Given the description of an element on the screen output the (x, y) to click on. 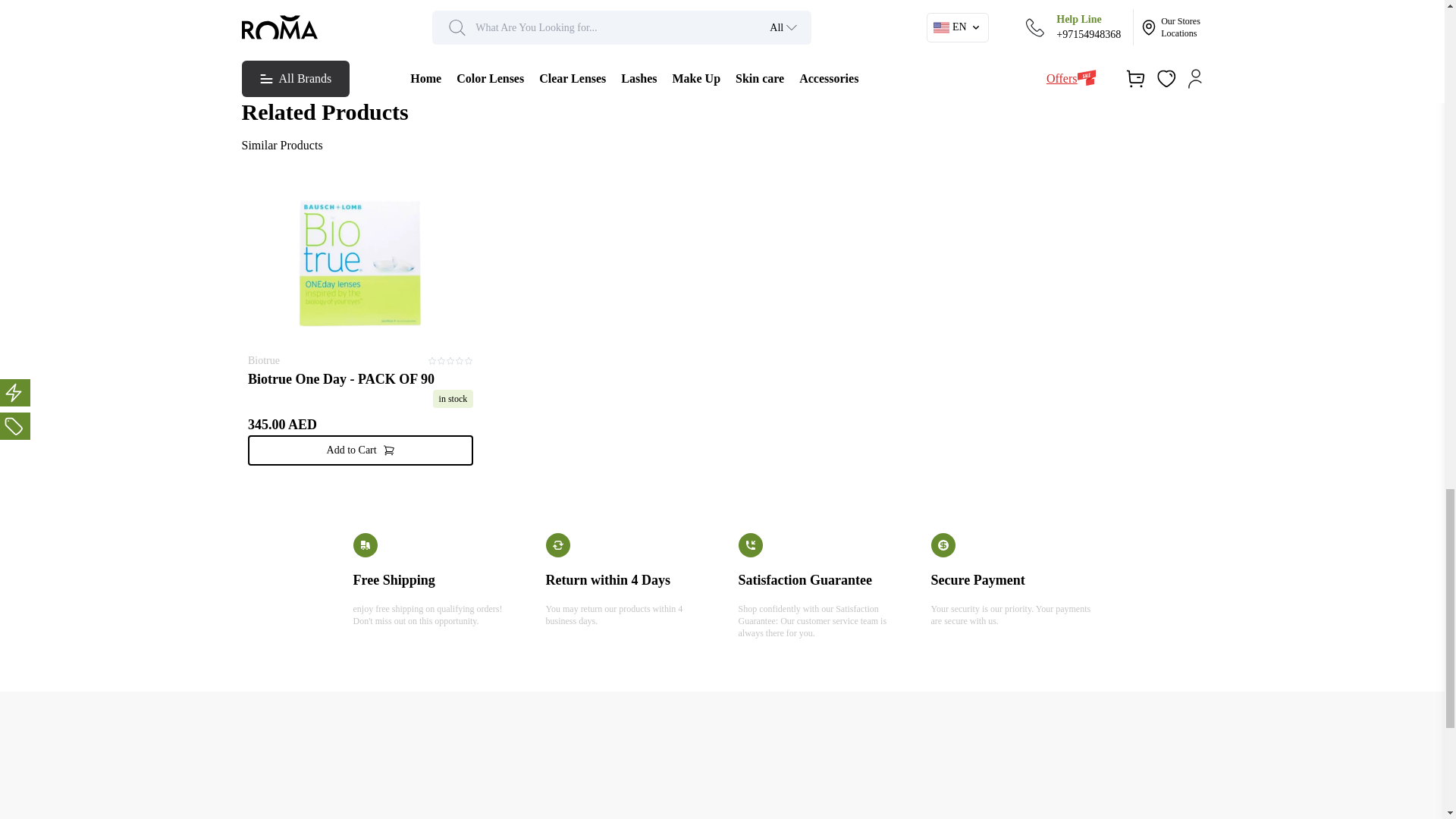
Add to Cart (359, 450)
Biotrue One Day - PACK OF 90 (359, 378)
Biotrue One Day - PACK OF 90 (359, 378)
